Given the description of an element on the screen output the (x, y) to click on. 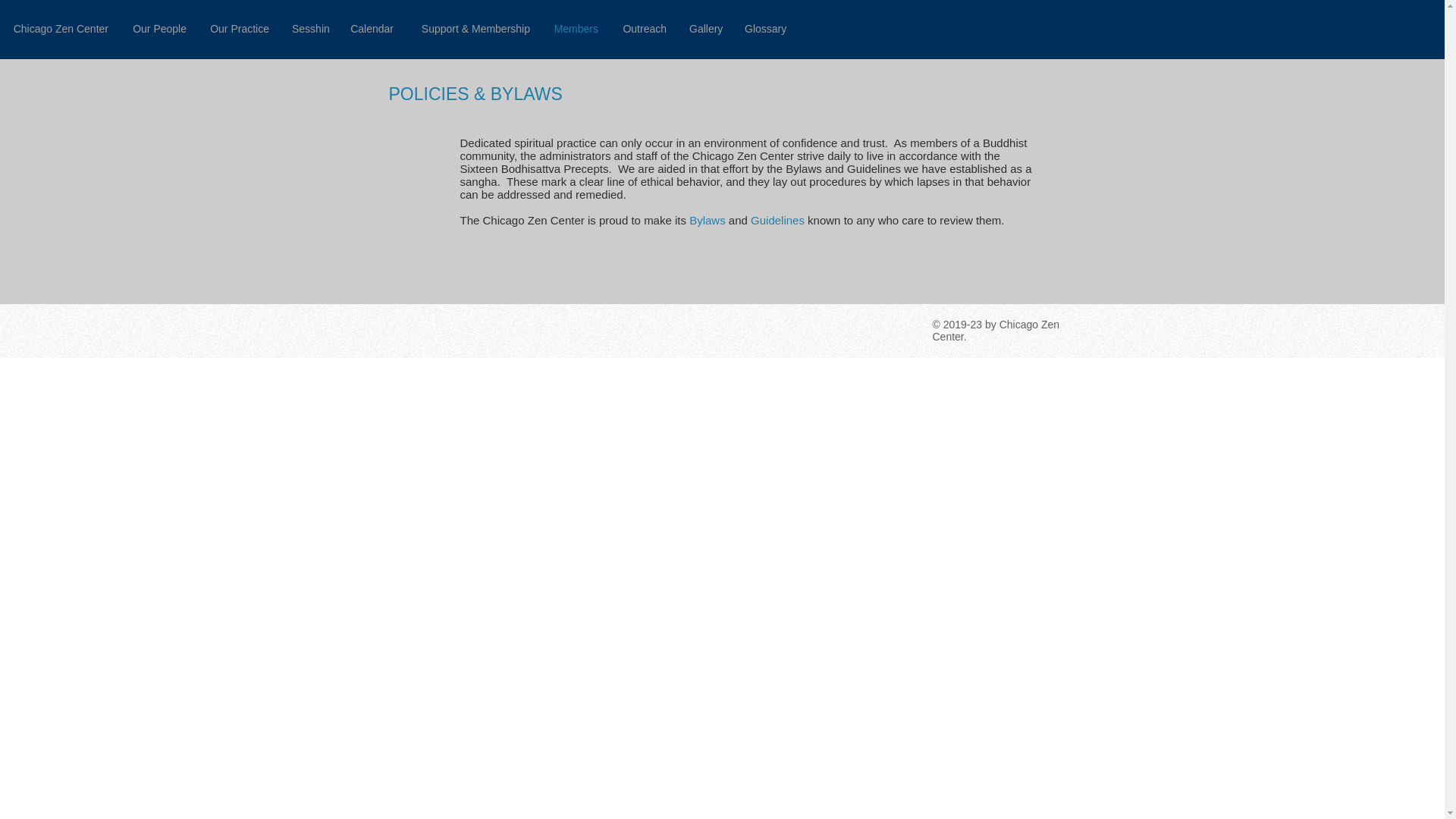
Guidelines (778, 219)
Glossary (763, 28)
Chicago Zen Center (59, 28)
Calendar (371, 28)
Bylaws (706, 219)
Members (575, 28)
Our People (158, 28)
Our Practice (239, 28)
Gallery (705, 28)
Sesshin (310, 28)
